Given the description of an element on the screen output the (x, y) to click on. 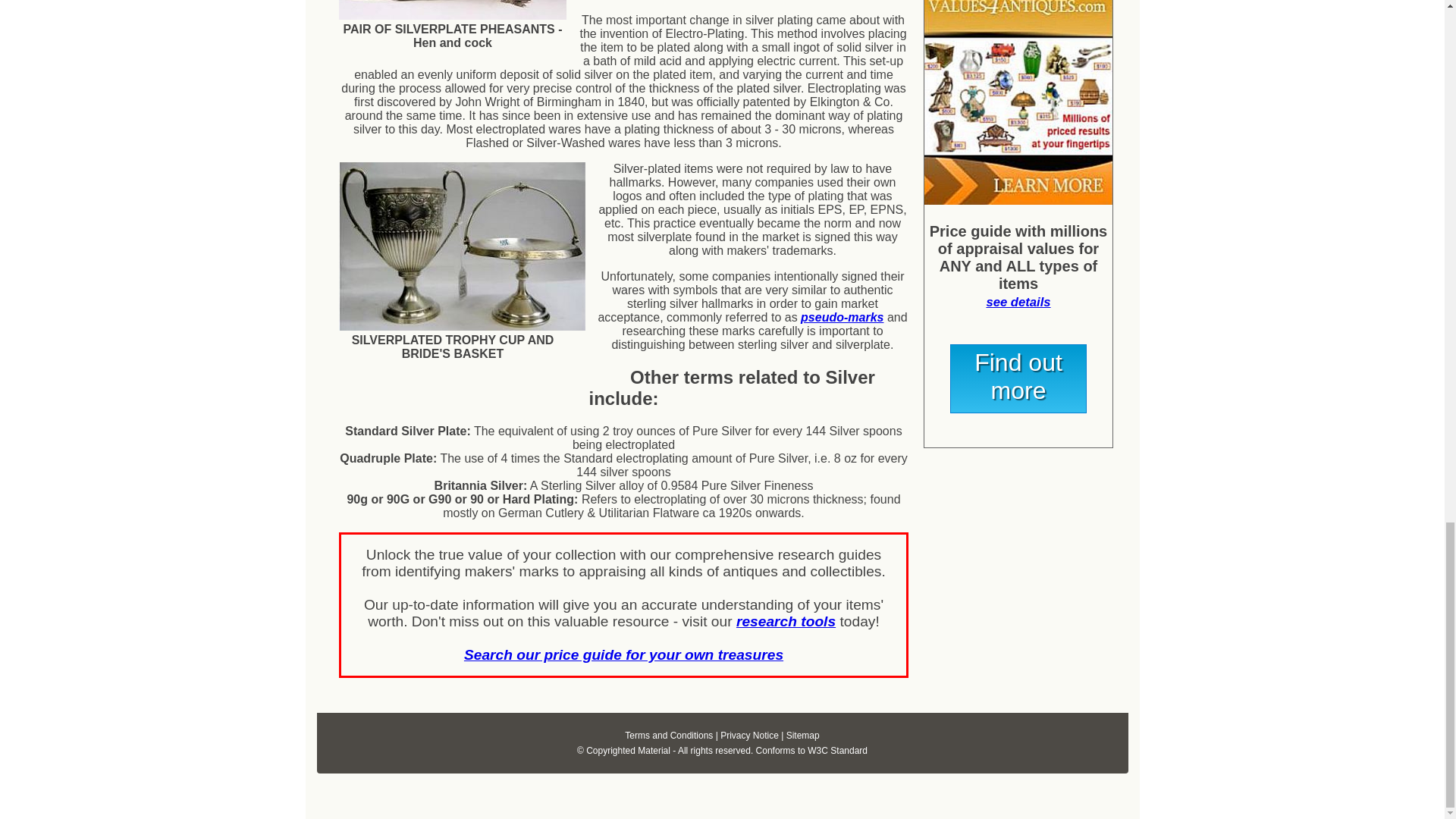
research tools (785, 621)
see details (1017, 301)
Sitemap (802, 735)
Terms and Conditions (668, 735)
pseudo-marks (841, 317)
Privacy Notice (749, 735)
Search our price guide for your own treasures (623, 654)
Find out more (1018, 378)
